Given the description of an element on the screen output the (x, y) to click on. 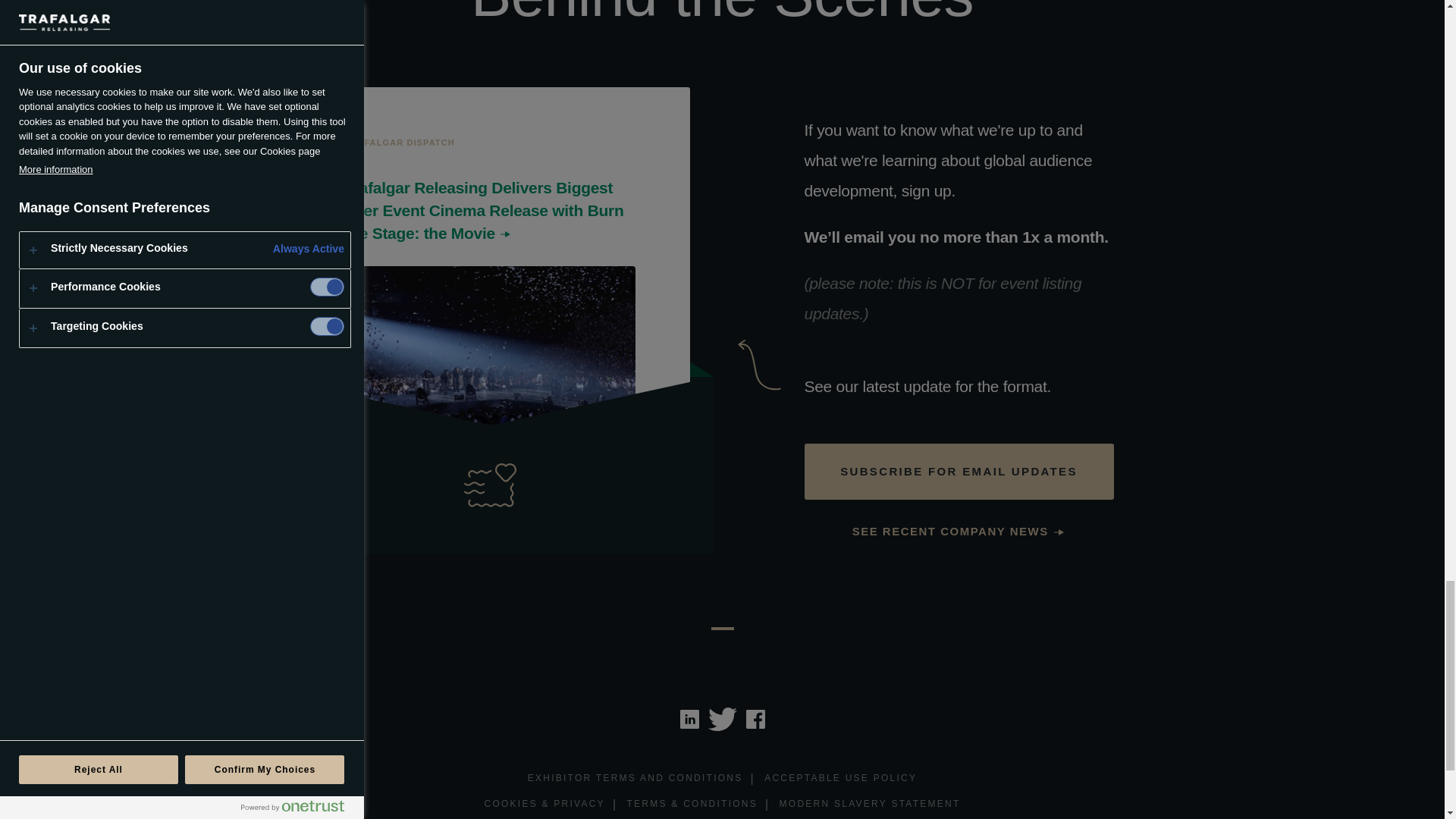
EXHIBITOR TERMS AND CONDITIONS (634, 779)
ACCEPTABLE USE POLICY (840, 779)
SEE RECENT COMPANY NEWS (958, 531)
SUBSCRIBE FOR EMAIL UPDATES (958, 471)
MODERN SLAVERY STATEMENT (869, 804)
